Given the description of an element on the screen output the (x, y) to click on. 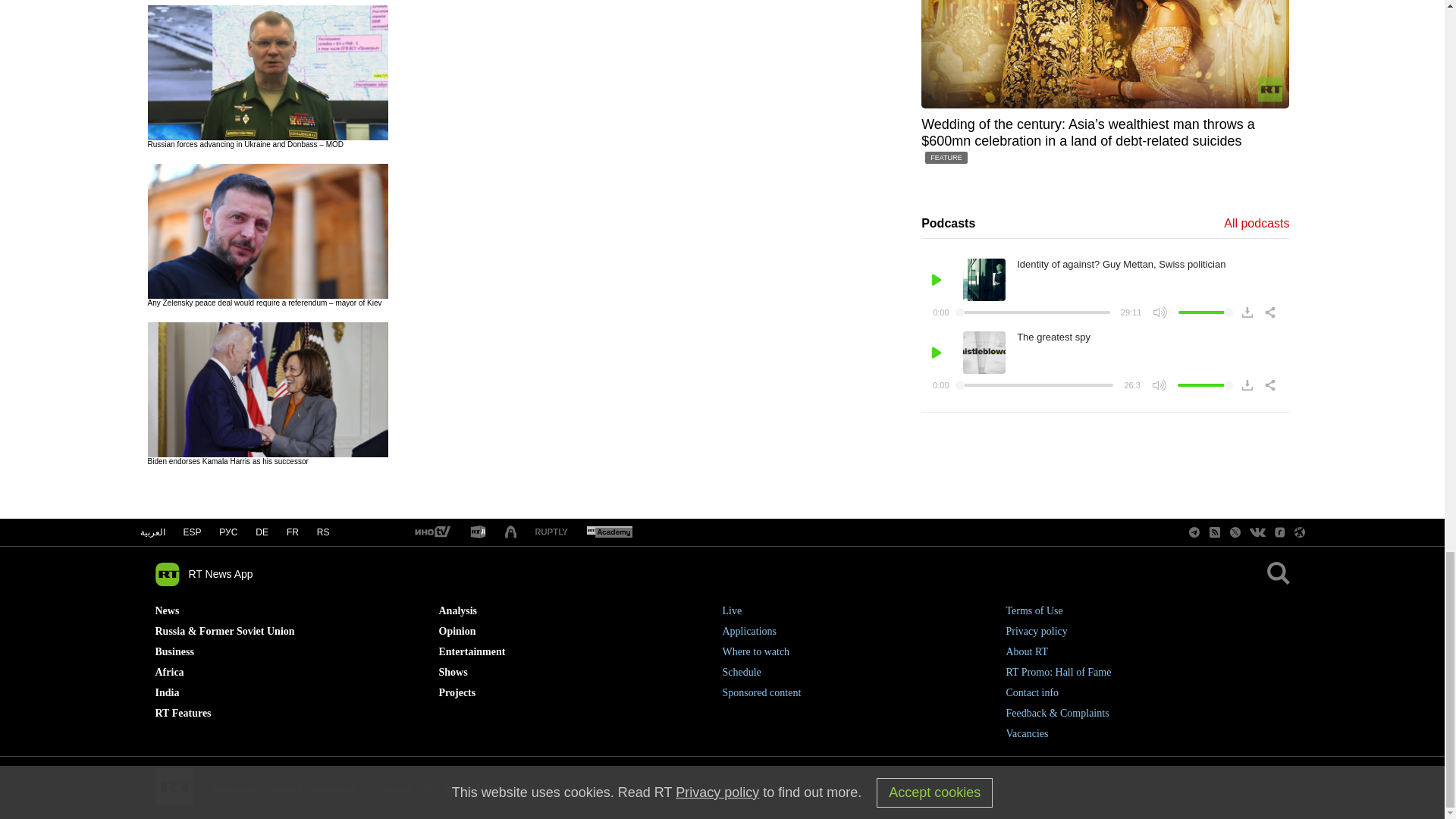
RT  (551, 532)
RT  (478, 532)
RT  (608, 532)
RT  (431, 532)
